Given the description of an element on the screen output the (x, y) to click on. 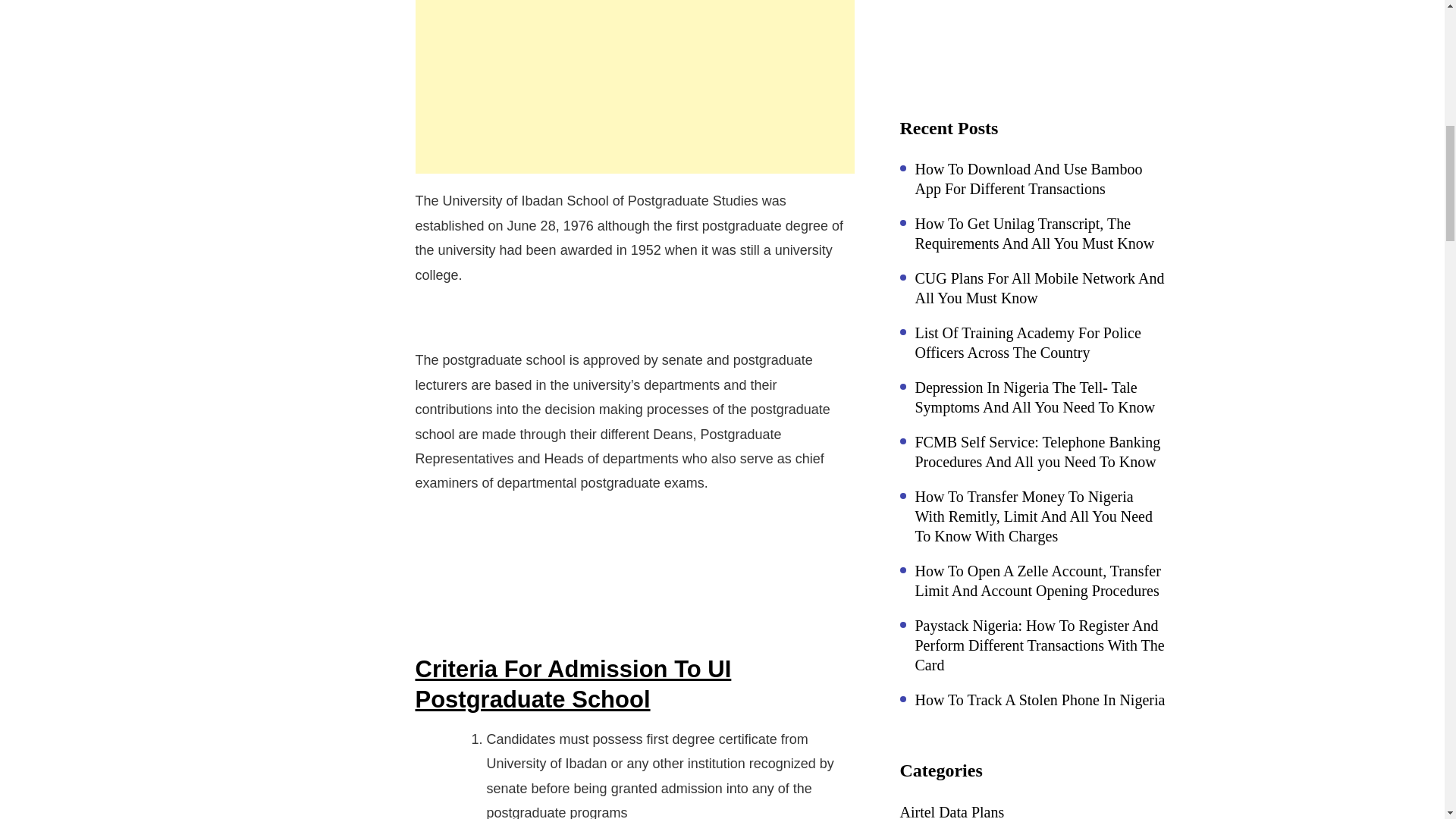
Advertisement (634, 86)
